Given the description of an element on the screen output the (x, y) to click on. 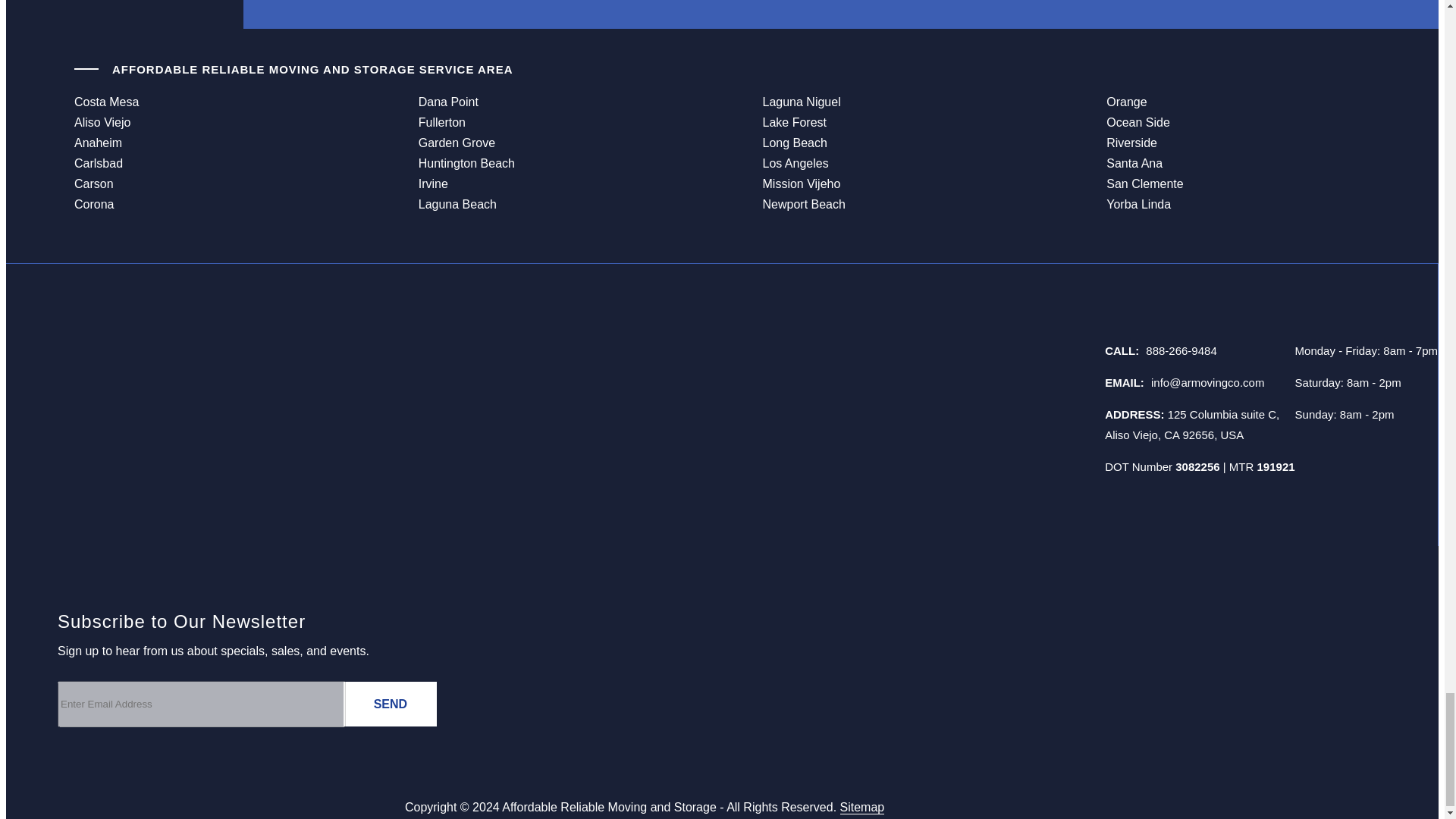
SEND (389, 703)
